Given the description of an element on the screen output the (x, y) to click on. 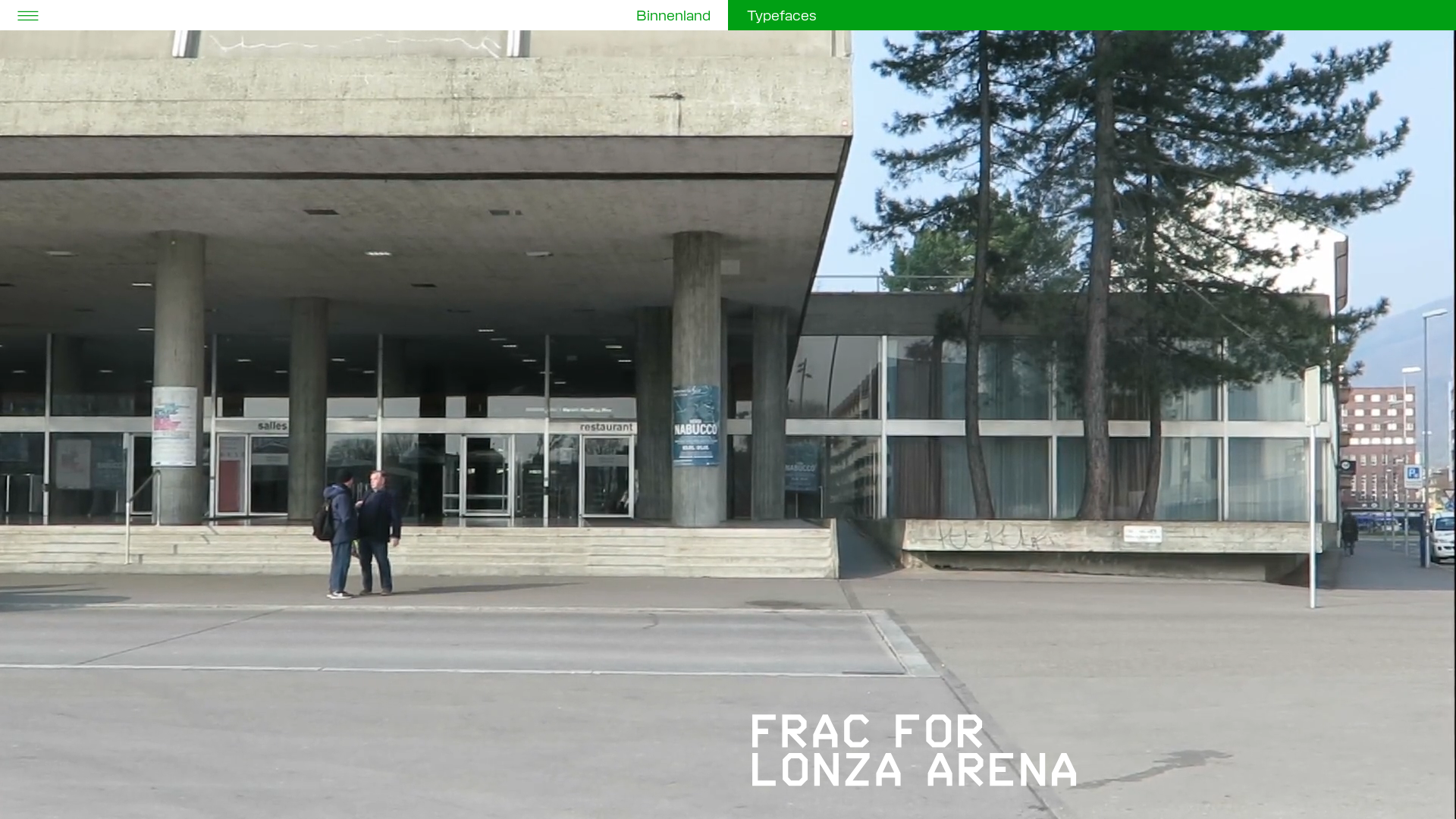
Binnenland Element type: text (673, 15)
